Given the description of an element on the screen output the (x, y) to click on. 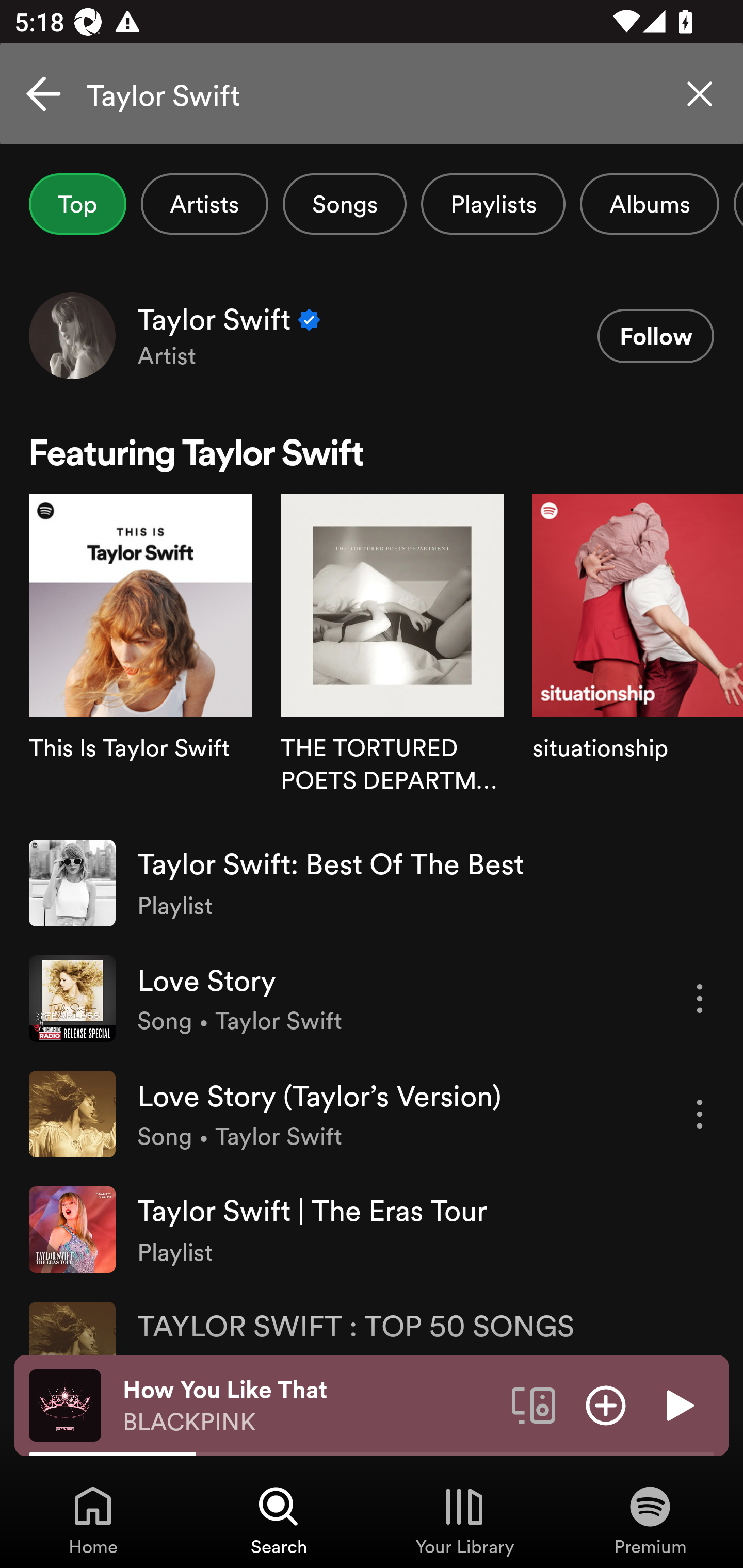
Taylor Swift (371, 93)
Cancel (43, 93)
Clear search query (699, 93)
Top (77, 203)
Artists (204, 203)
Songs (344, 203)
Playlists (493, 203)
Albums (649, 203)
Taylor Swift Verified Artist Follow Follow (371, 335)
Follow (655, 335)
Search card image This Is Taylor Swift (139, 658)
Search card image THE TORTURED POETS DEPARTMENT (391, 658)
Search card image situationship (637, 658)
Taylor Swift: Best Of The Best Playlist (371, 882)
More options for song Love Story (699, 997)
Taylor Swift | The Eras Tour Playlist (371, 1229)
TAYLOR SWIFT : TOP 50 SONGS Playlist (371, 1320)
How You Like That BLACKPINK (309, 1405)
The cover art of the currently playing track (64, 1404)
Connect to a device. Opens the devices menu (533, 1404)
Add item (605, 1404)
Play (677, 1404)
Home, Tab 1 of 4 Home Home (92, 1519)
Search, Tab 2 of 4 Search Search (278, 1519)
Your Library, Tab 3 of 4 Your Library Your Library (464, 1519)
Premium, Tab 4 of 4 Premium Premium (650, 1519)
